Given the description of an element on the screen output the (x, y) to click on. 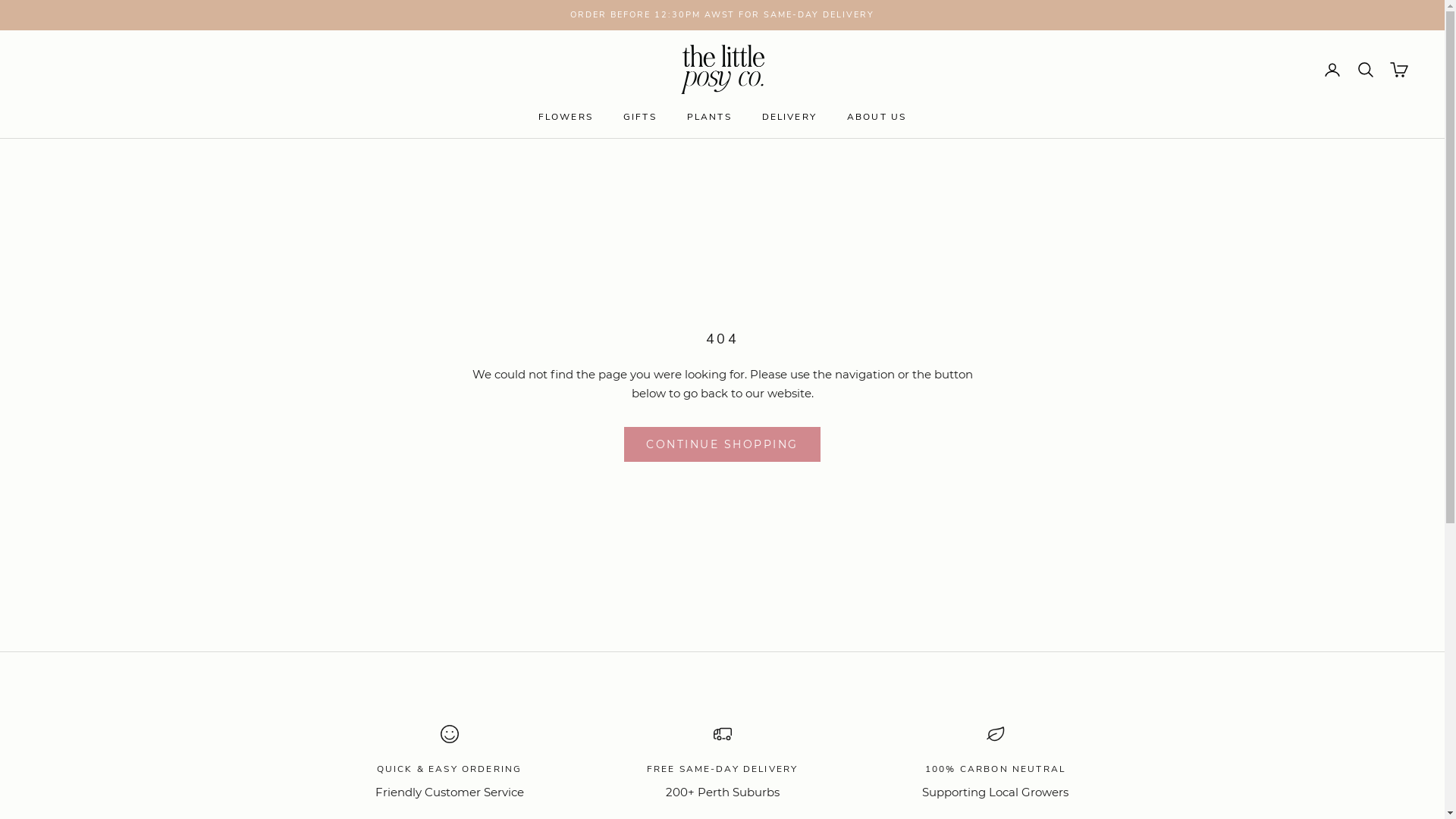
CONTINUE SHOPPING Element type: text (722, 443)
The Little Posy Co. Element type: text (722, 69)
Open cart Element type: text (1399, 69)
Open account page Element type: text (1332, 69)
Open search Element type: text (1365, 69)
